Given the description of an element on the screen output the (x, y) to click on. 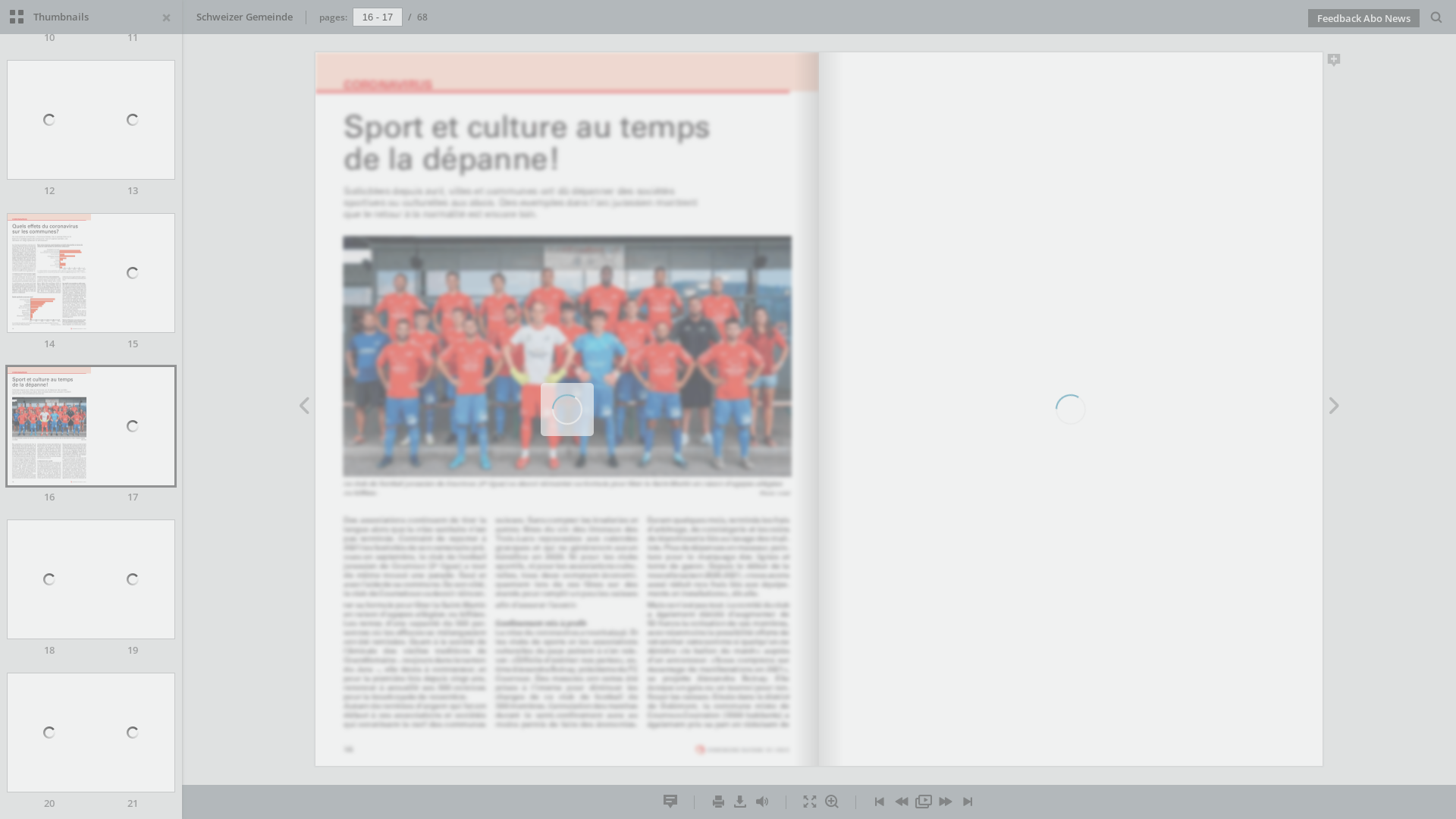
Print Element type: hover (717, 801)
Download Element type: hover (740, 801)
Add Note Element type: hover (1334, 62)
Toggle Sound Element type: hover (761, 801)
Notes Element type: hover (670, 801)
Zoom In Element type: hover (831, 801)
Previous Page Element type: hover (901, 801)
Previous Page Element type: hover (303, 407)
Search Element type: hover (1436, 17)
Feedback Abo News Element type: text (1363, 18)
Fullscreen Element type: hover (810, 801)
Next Page Element type: hover (1334, 407)
Next Page Element type: hover (945, 801)
Start Slideshow Element type: hover (924, 801)
Last Page Element type: hover (968, 801)
First Page Element type: hover (880, 801)
